Given the description of an element on the screen output the (x, y) to click on. 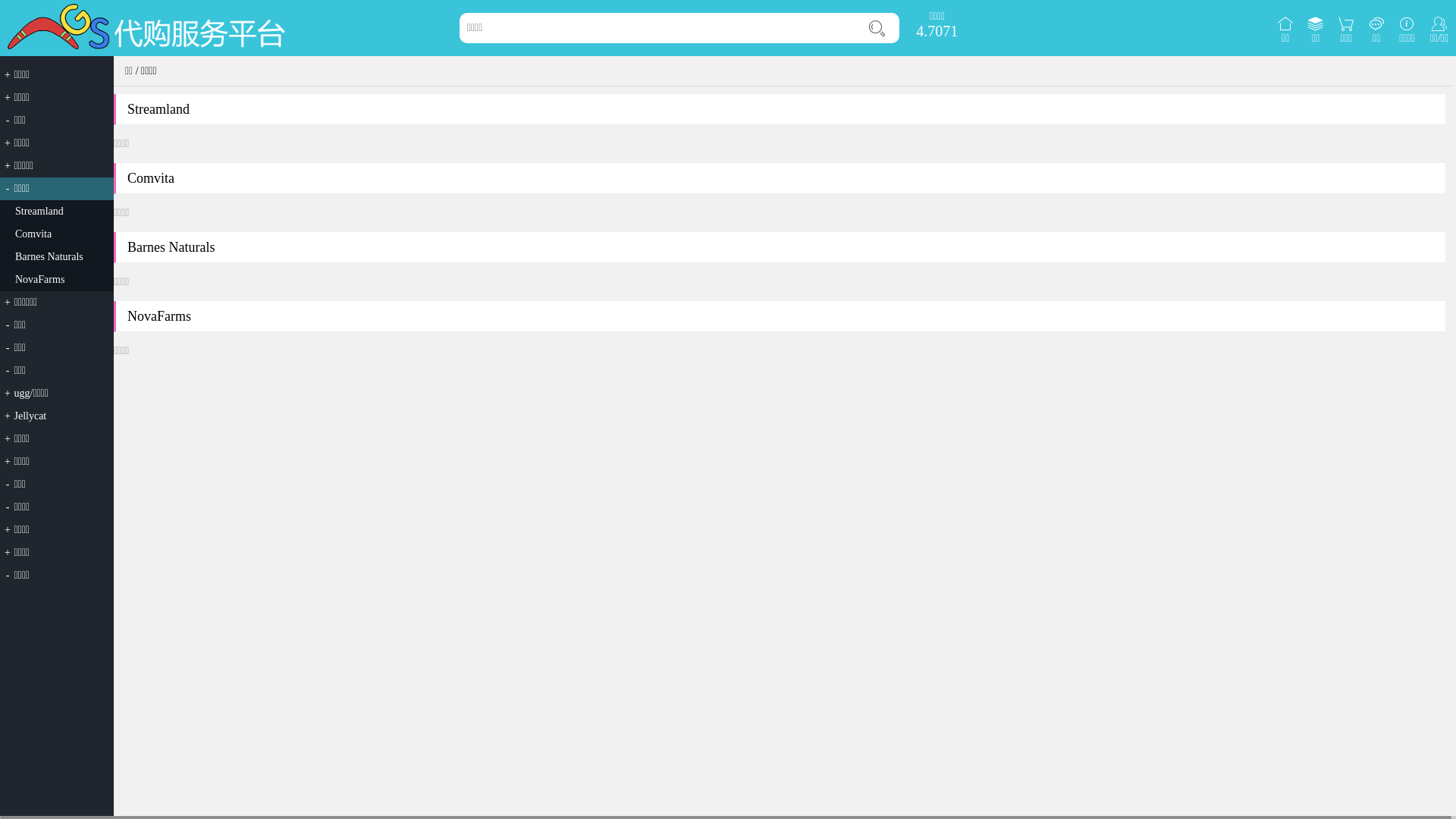
NovaFarms Element type: text (39, 279)
Comvita Element type: text (33, 233)
Streamland Element type: text (39, 210)
Barnes Naturals Element type: text (49, 256)
Jellycat Element type: text (29, 415)
